Given the description of an element on the screen output the (x, y) to click on. 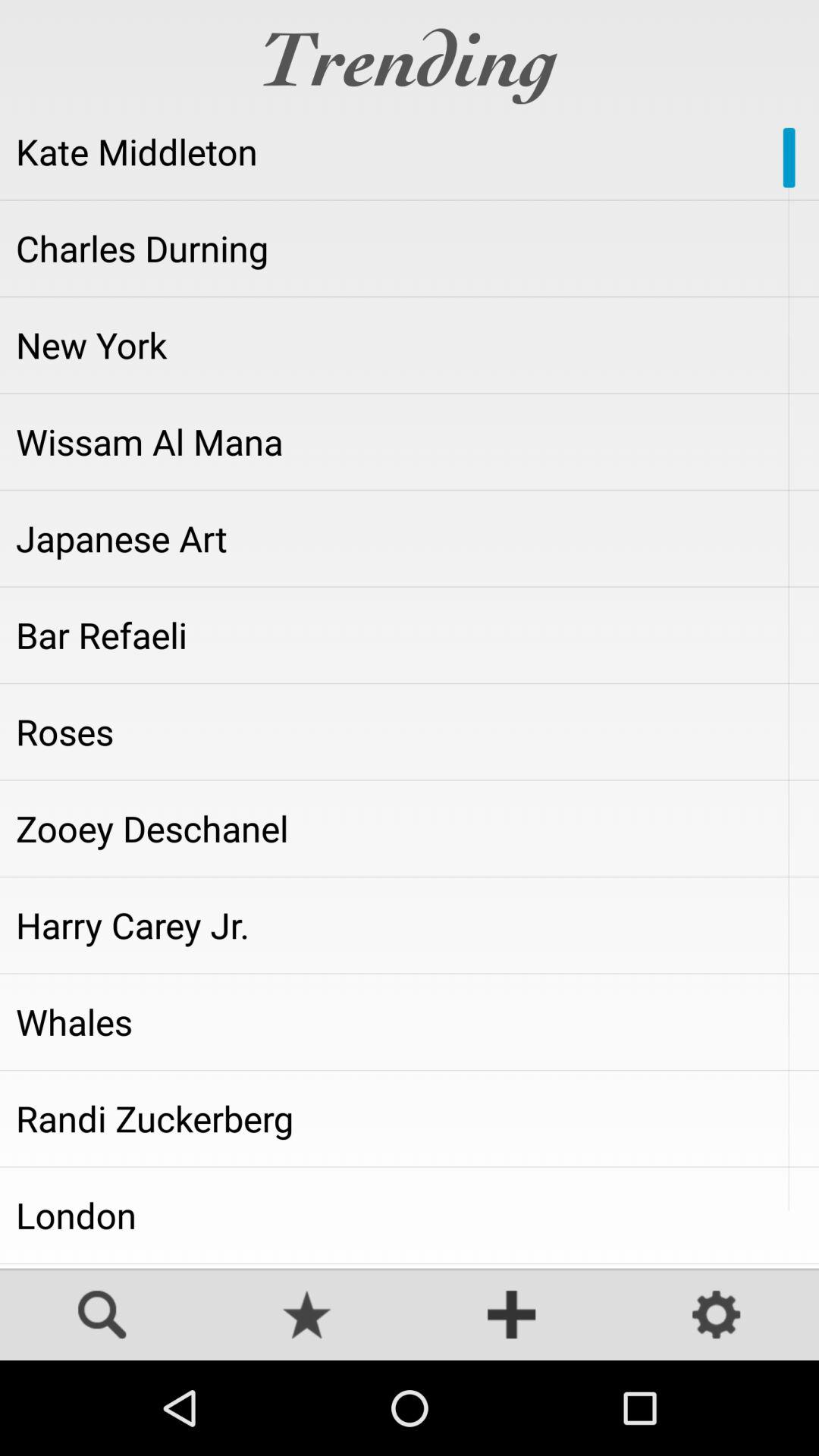
swipe until new york app (409, 345)
